Given the description of an element on the screen output the (x, y) to click on. 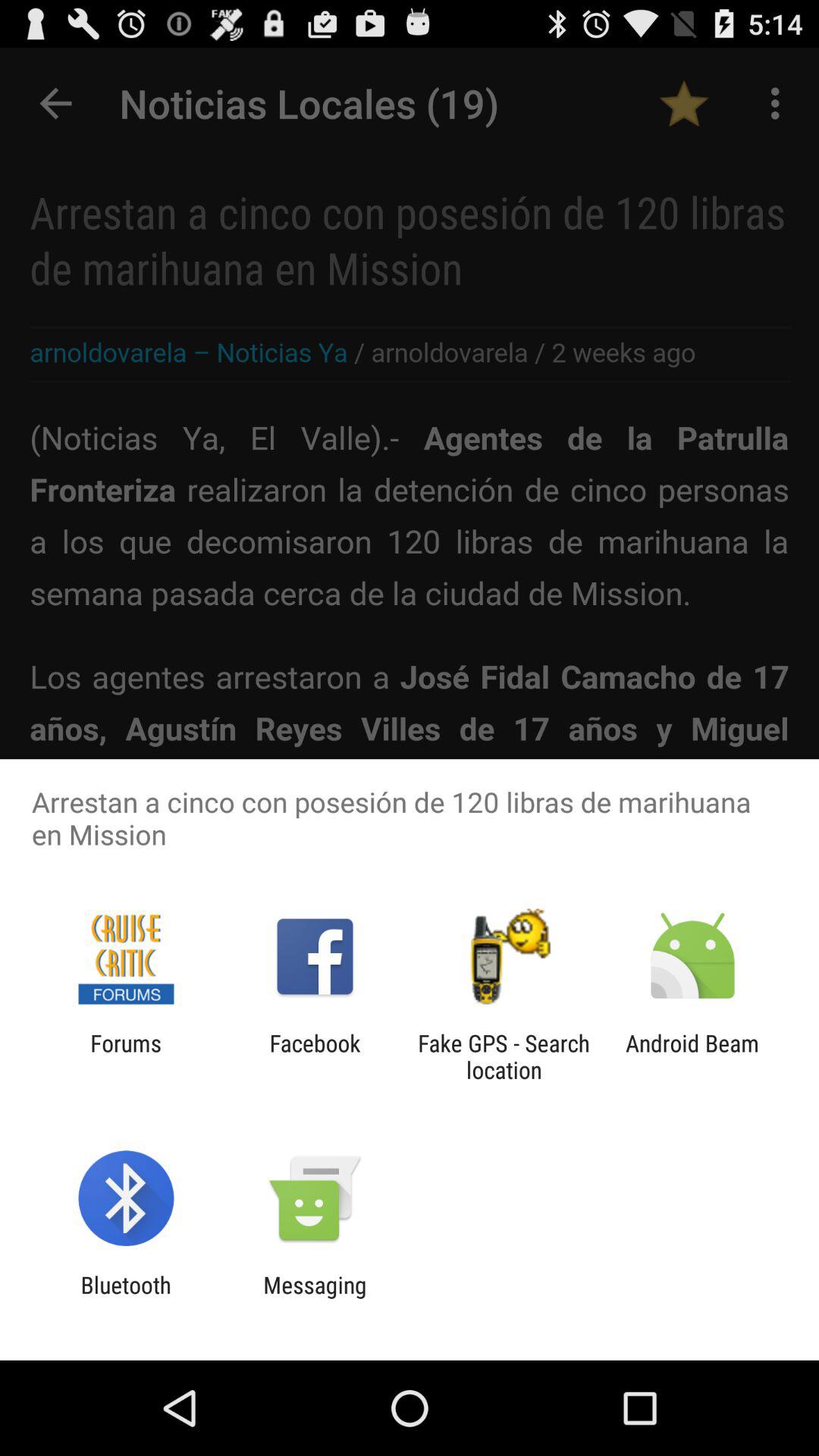
press icon to the right of the forums icon (314, 1056)
